Given the description of an element on the screen output the (x, y) to click on. 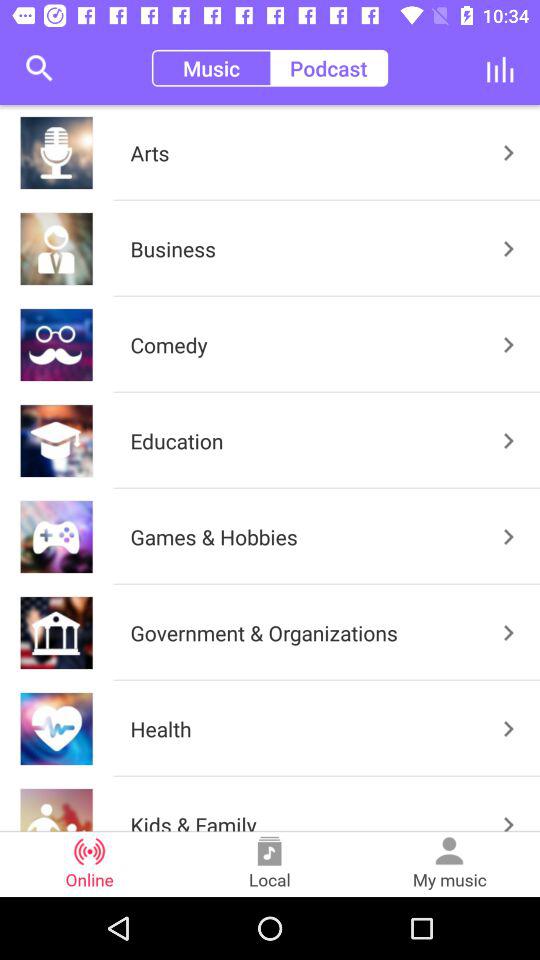
launch the my music (450, 863)
